Given the description of an element on the screen output the (x, y) to click on. 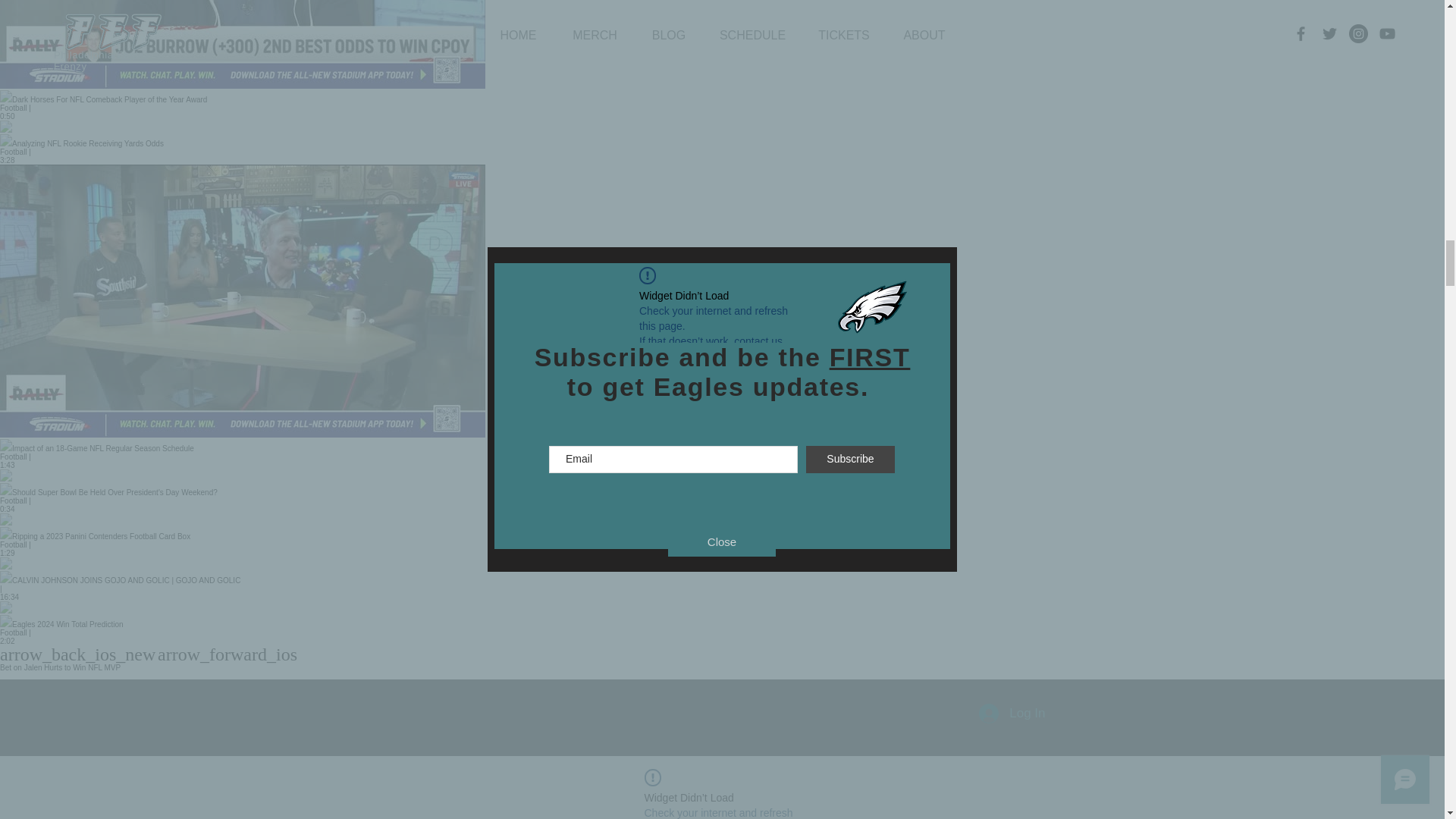
Log In (1011, 713)
